Given the description of an element on the screen output the (x, y) to click on. 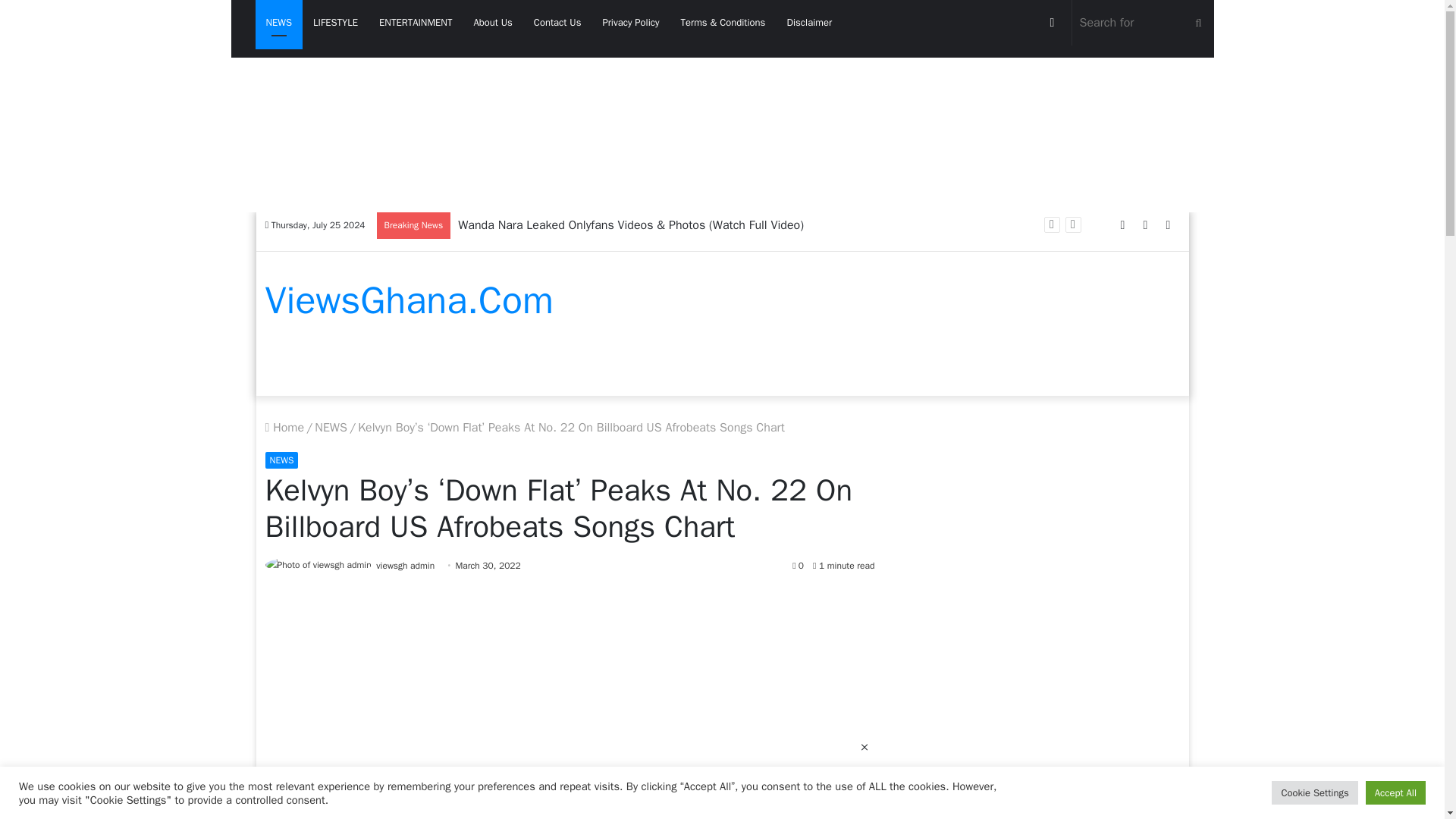
viewsgh admin (404, 565)
Advertisement (570, 695)
Home (284, 427)
viewsgh admin (404, 565)
Search for (1142, 22)
ViewsGhana.Com (408, 300)
Sidebar (1168, 225)
LIFESTYLE (335, 22)
ViewsGhana.Com (408, 300)
Log In (1123, 225)
About Us (492, 22)
Privacy Policy (630, 22)
Random Article (1145, 225)
Switch skin (1051, 22)
NEWS (278, 22)
